Given the description of an element on the screen output the (x, y) to click on. 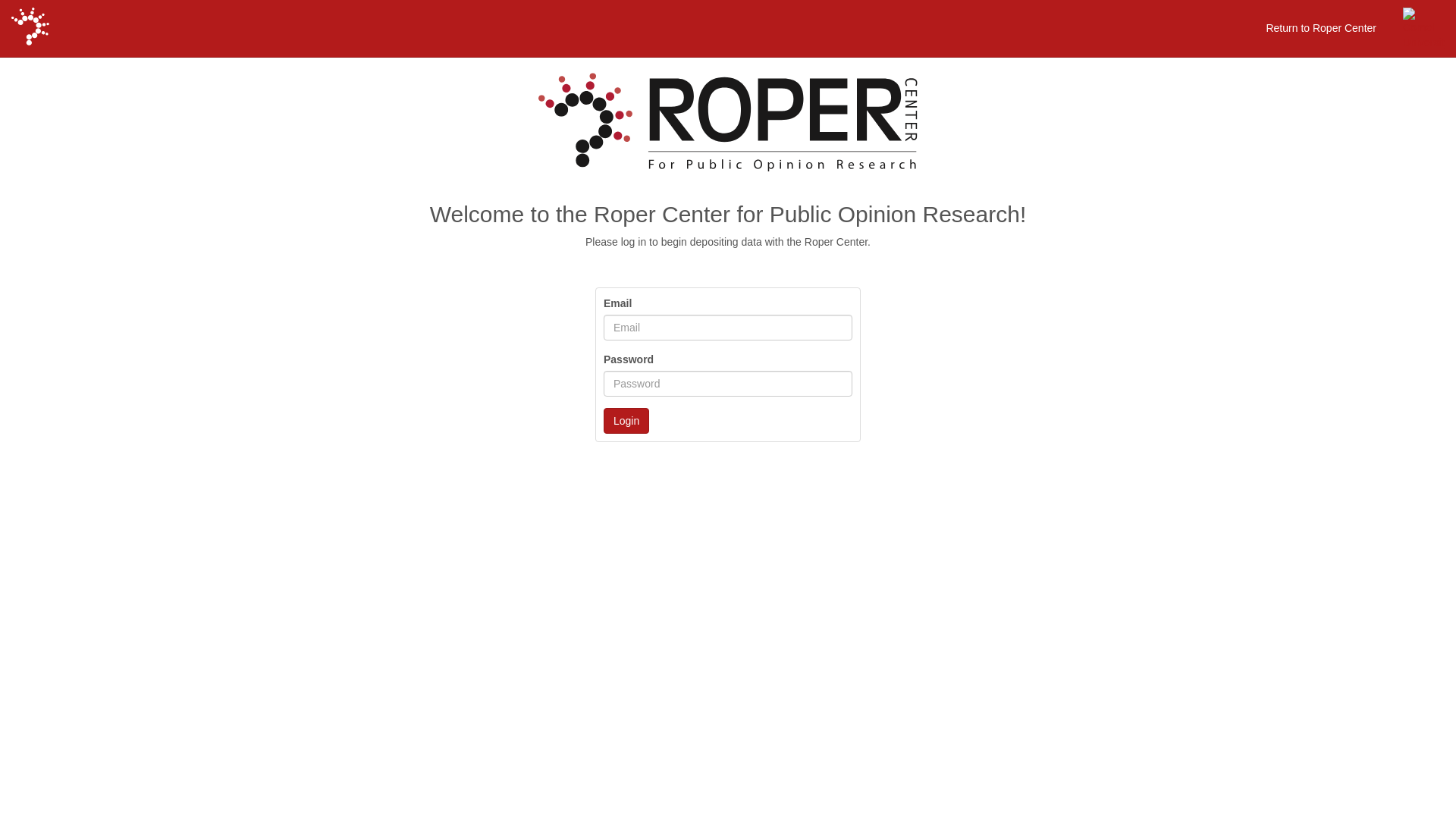
Return to Roper Center Element type: text (1320, 28)
Login Element type: text (626, 420)
